Given the description of an element on the screen output the (x, y) to click on. 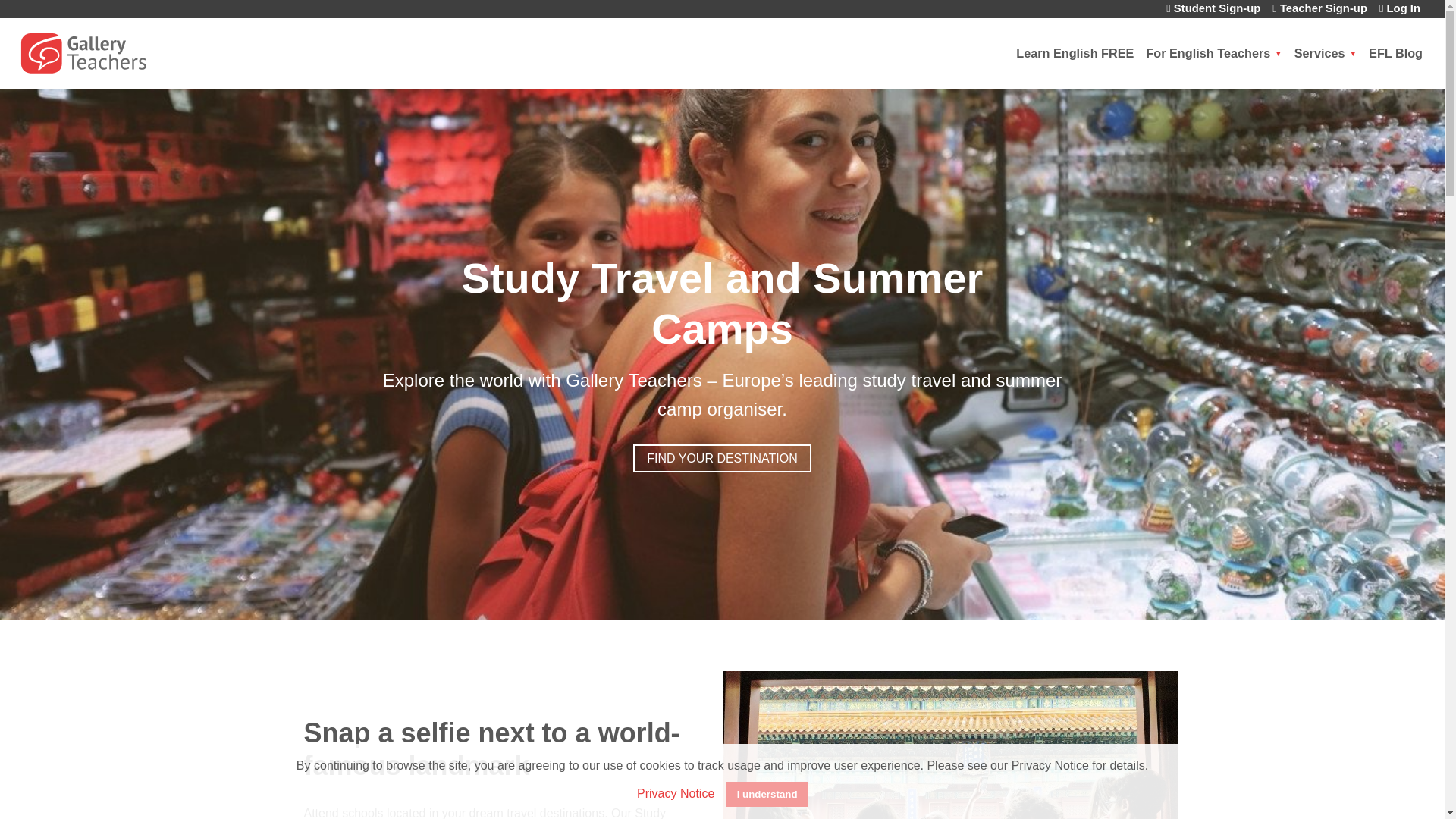
Teacher Sign-up (1319, 9)
Learn English FREE (1075, 53)
Student Sign-up (1213, 9)
Gallery Teachers (108, 52)
For English Teachers (1213, 54)
Log In (1399, 9)
